Given the description of an element on the screen output the (x, y) to click on. 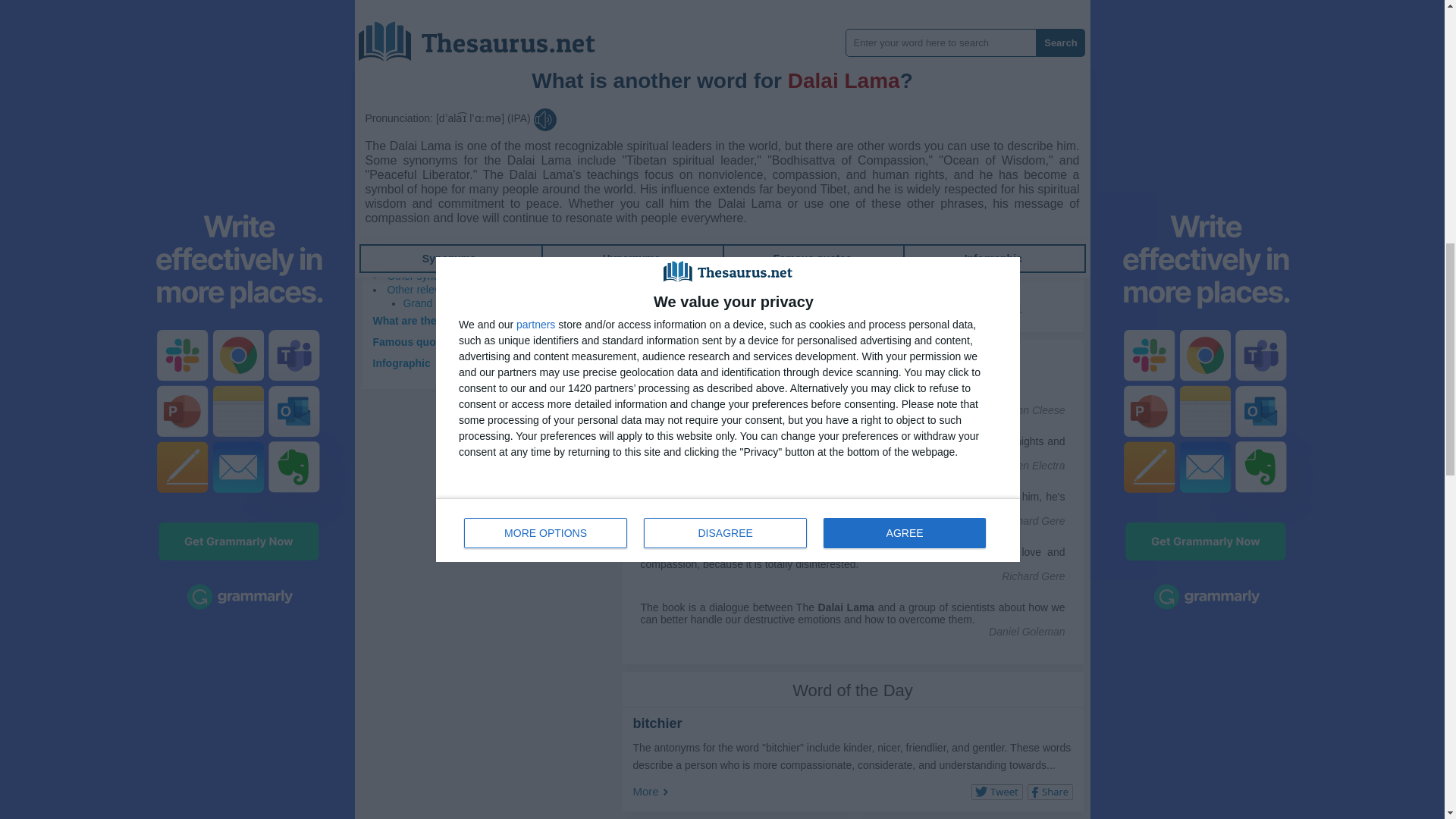
enlightenment (702, 30)
Synonyms for Dalai lama (672, 80)
Synonyms for Dalai lama (948, 80)
shinto (885, 2)
eden (948, 80)
dot (924, 80)
Synonyms for Dalai lama (730, 96)
Synonyms for Dalai lama (721, 2)
lama (809, 2)
dose (899, 80)
Synonyms for Dalai lama (809, 2)
Synonyms for Dalai lama (899, 80)
Synonyms for Dalai lama (679, 96)
Synonyms for Dalai lama (683, 2)
Other synonyms (425, 275)
